Given the description of an element on the screen output the (x, y) to click on. 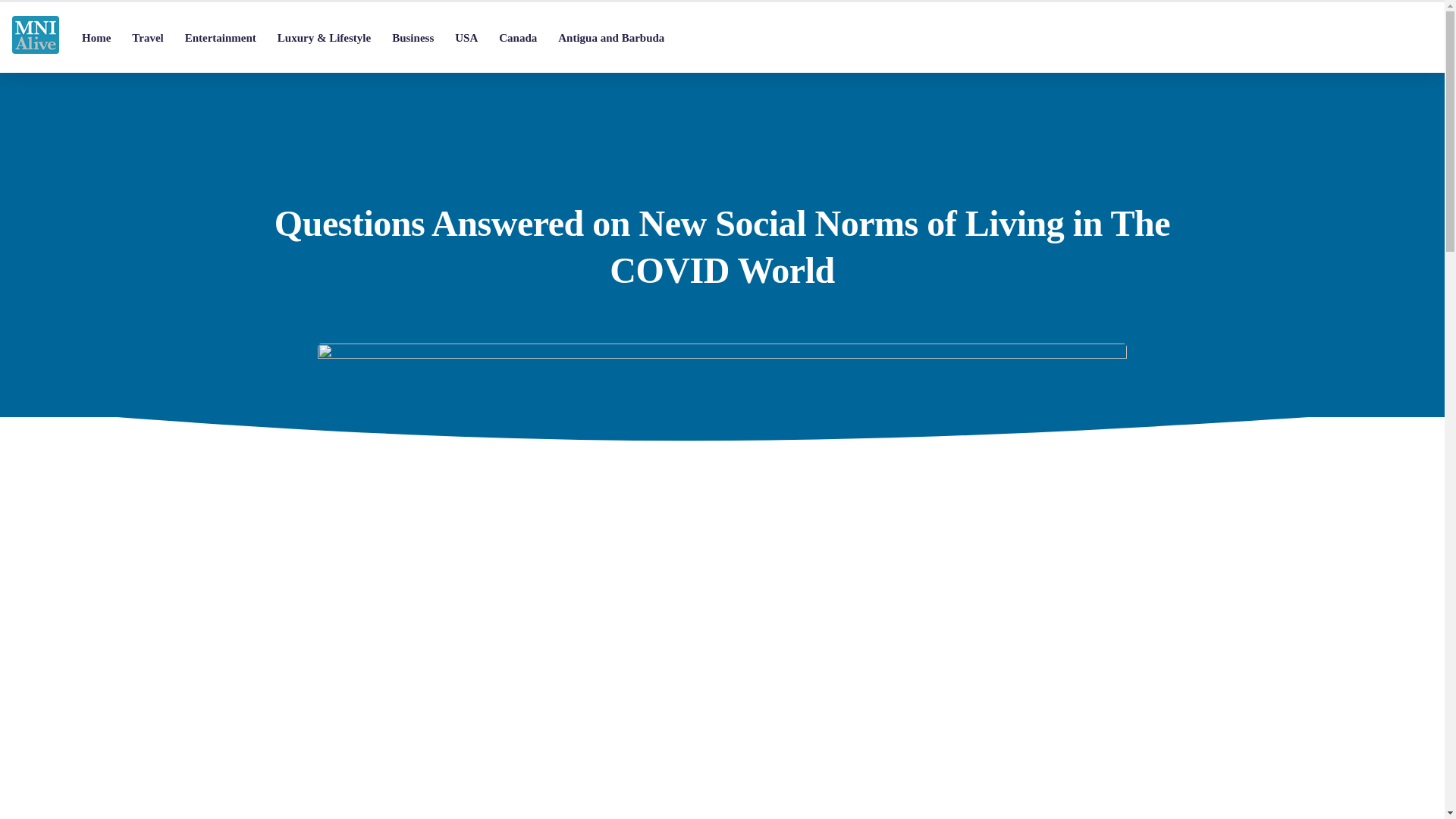
Antigua and Barbuda (611, 37)
Entertainment (220, 37)
Travel (146, 37)
Business (412, 37)
Canada (517, 37)
USA (465, 37)
Home (95, 37)
